Given the description of an element on the screen output the (x, y) to click on. 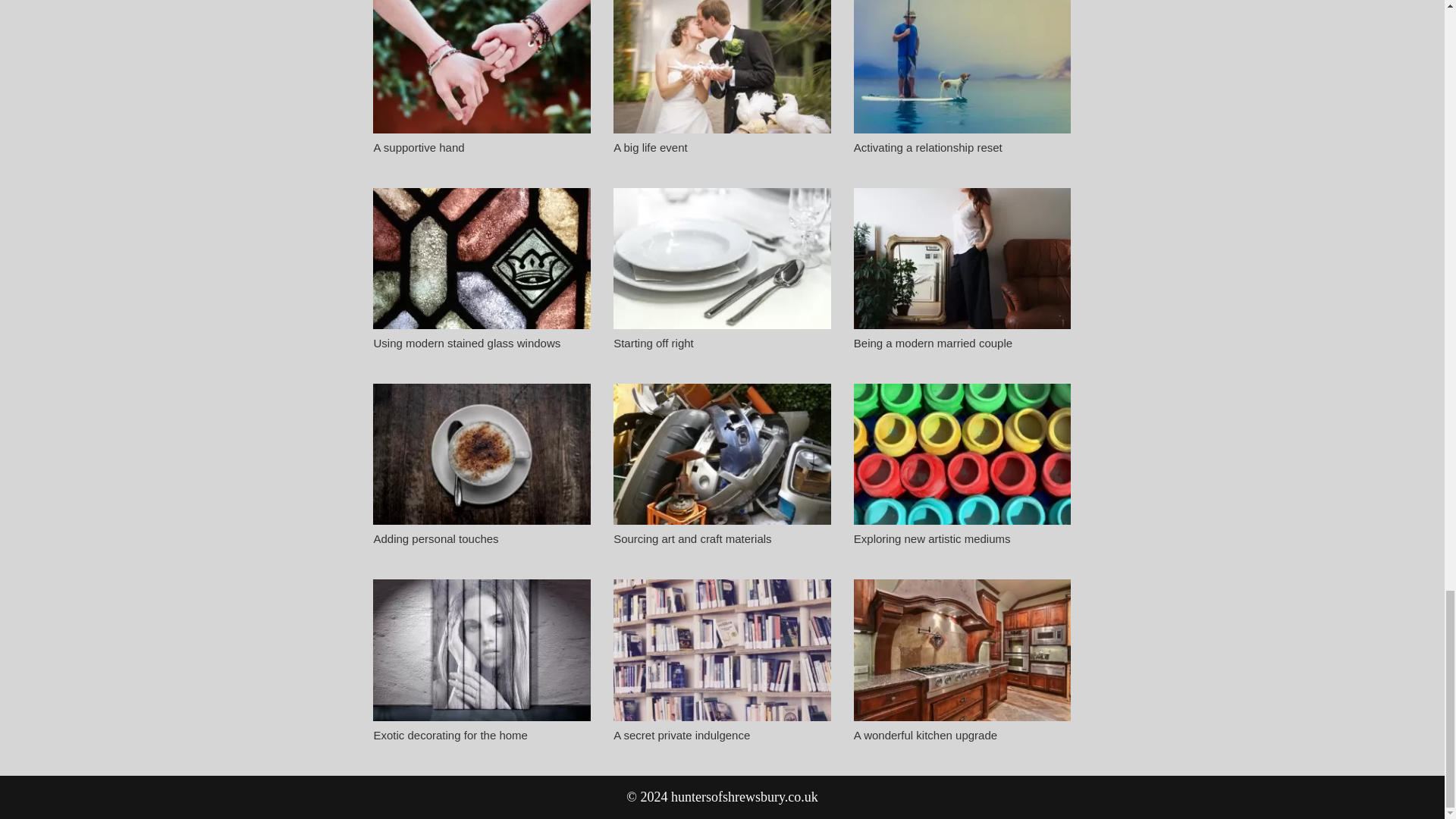
A big life event (649, 146)
Being a modern married couple (932, 342)
Using modern stained glass windows (466, 342)
Activating a relationship reset (928, 146)
A supportive hand (418, 146)
Starting off right (653, 342)
